Given the description of an element on the screen output the (x, y) to click on. 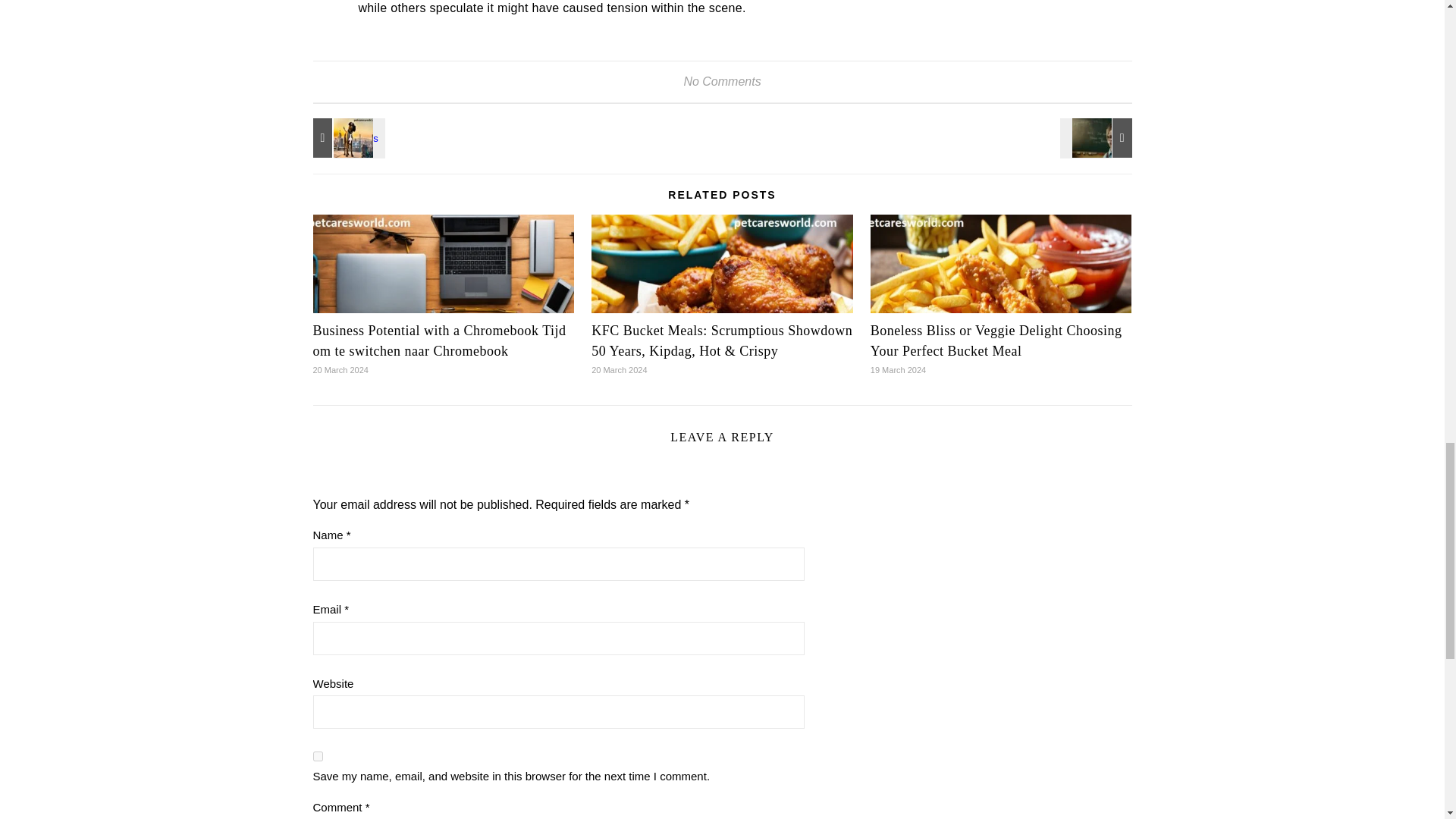
No Comments (721, 81)
The Enigma: Exploring the Essence of Secret Class 166 (1096, 137)
A Look Back: The History and Legacy of Penthouse Pets (346, 137)
yes (317, 756)
